Given the description of an element on the screen output the (x, y) to click on. 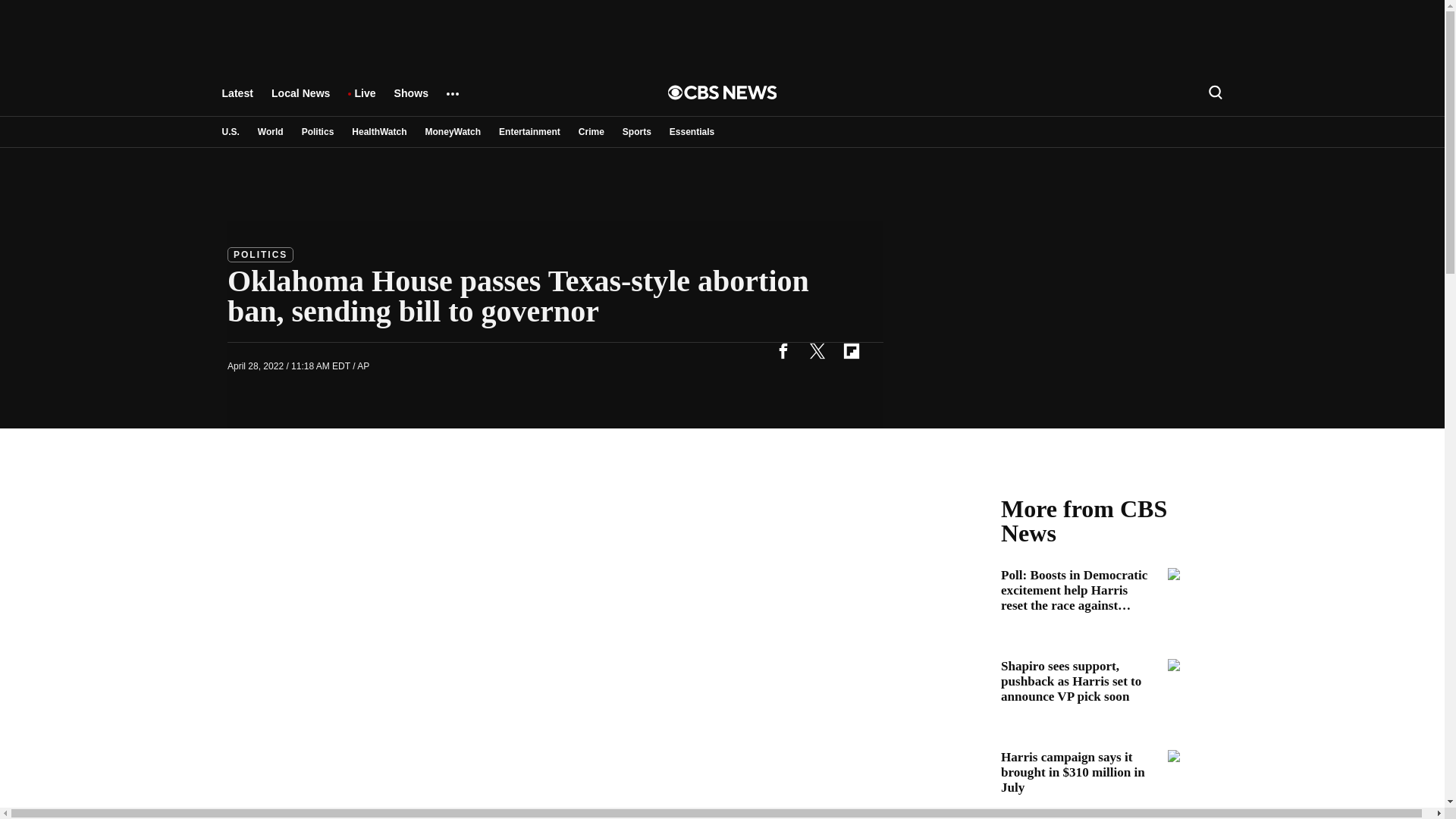
flipboard (850, 350)
facebook (782, 350)
Local News (300, 100)
twitter (816, 350)
Latest (236, 100)
